Given the description of an element on the screen output the (x, y) to click on. 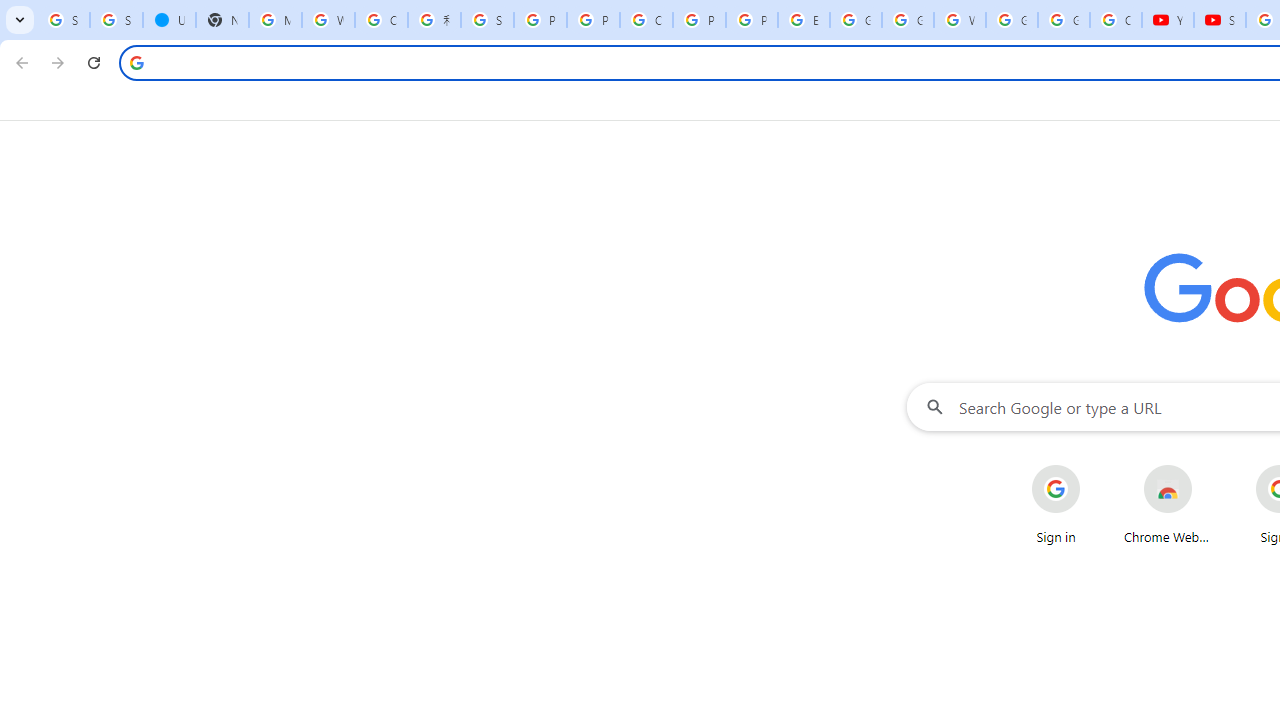
Edit and view right-to-left text - Google Docs Editors Help (803, 20)
Subscriptions - YouTube (1219, 20)
USA TODAY (169, 20)
More actions for Chrome Web Store shortcut (1208, 466)
Search icon (136, 62)
Sign in - Google Accounts (116, 20)
Sign in - Google Accounts (487, 20)
